Given the description of an element on the screen output the (x, y) to click on. 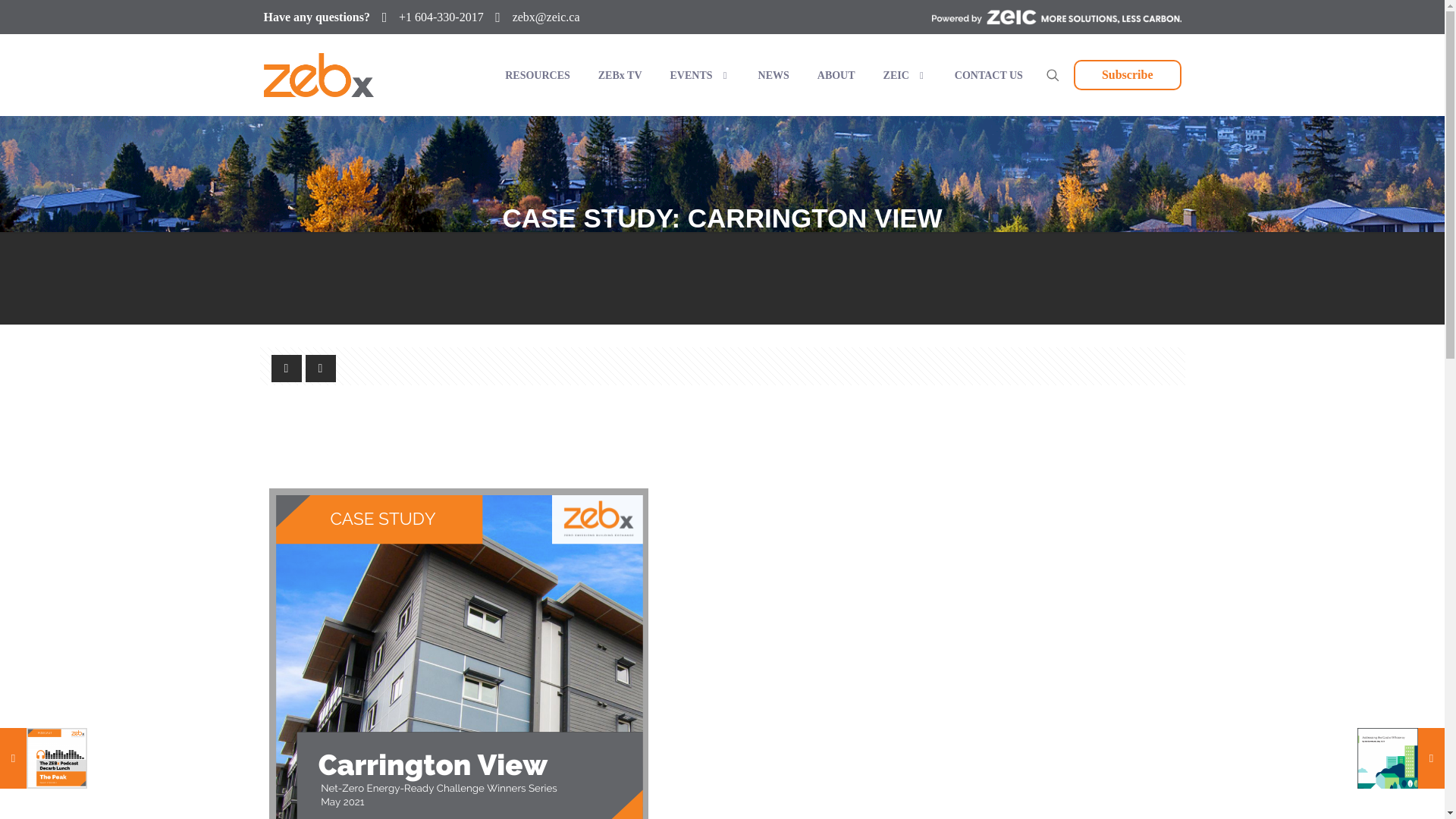
NEWS (772, 75)
ZEBx TV (619, 75)
ZEIC (903, 75)
RESOURCES (536, 75)
CONTACT US (987, 75)
EVENTS (698, 75)
Subscribe (1127, 74)
ABOUT (834, 75)
